Given the description of an element on the screen output the (x, y) to click on. 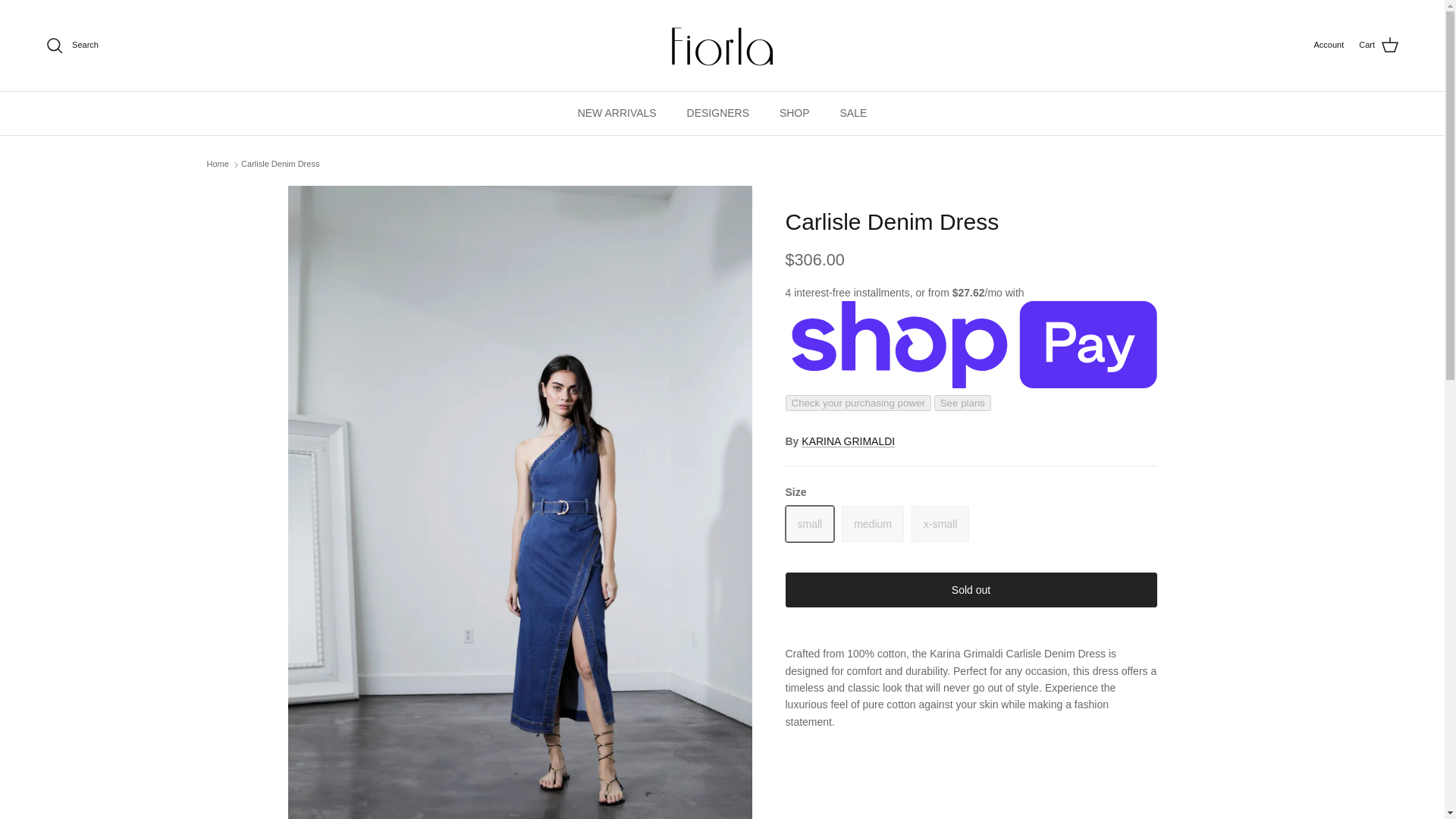
FIORLA (721, 45)
Search (72, 45)
Sold out (810, 524)
NEW ARRIVALS (616, 113)
Cart (1378, 45)
Account (1328, 45)
Sold out (940, 524)
DESIGNERS (717, 113)
Sold out (872, 524)
